Given the description of an element on the screen output the (x, y) to click on. 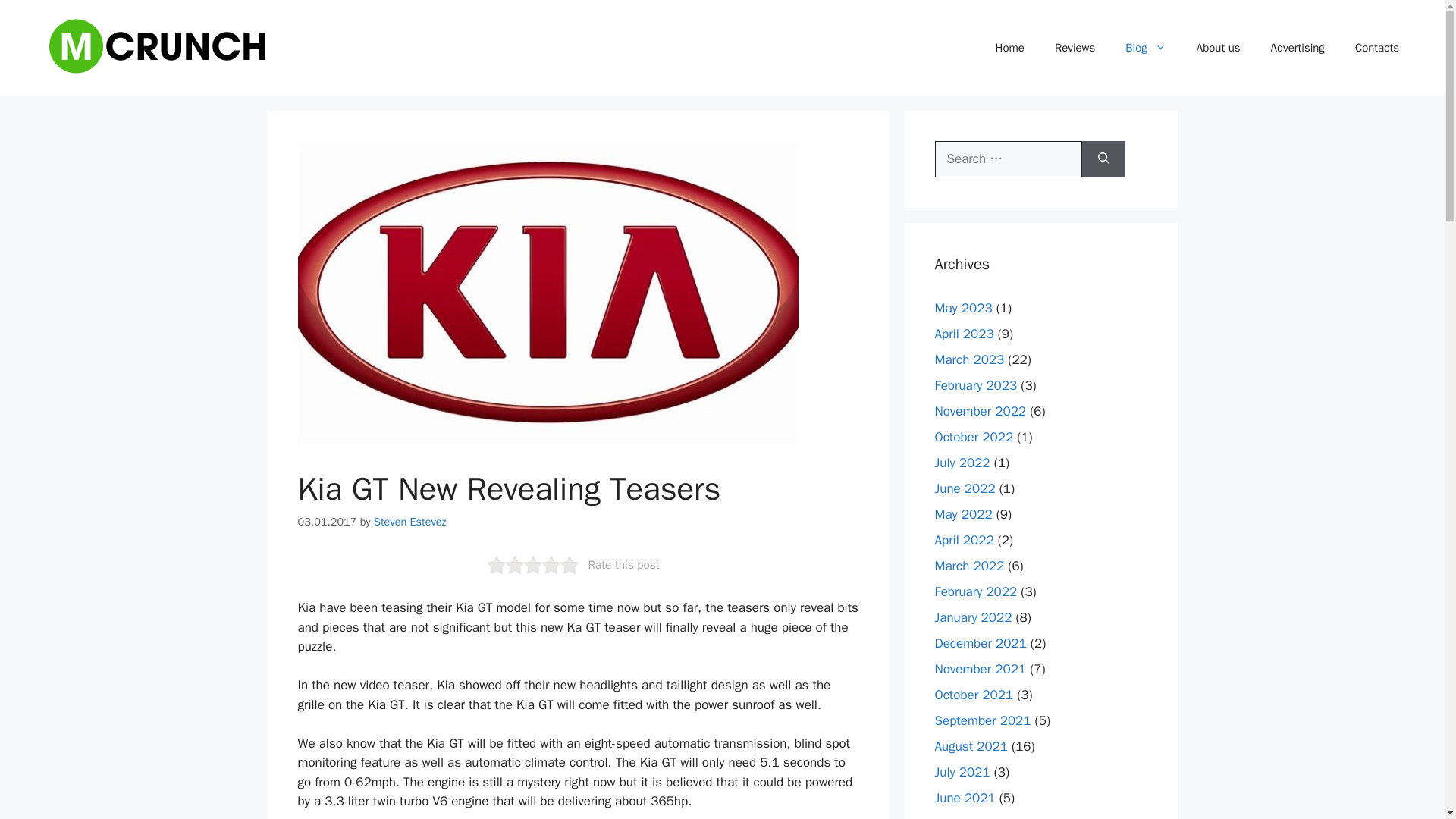
May 2023 (962, 308)
Blog (1144, 47)
Steven Estevez (410, 521)
February 2023 (975, 385)
Reviews (1074, 47)
Search for: (1007, 158)
Home (1009, 47)
March 2023 (969, 359)
April 2023 (963, 333)
Advertising (1297, 47)
